Given the description of an element on the screen output the (x, y) to click on. 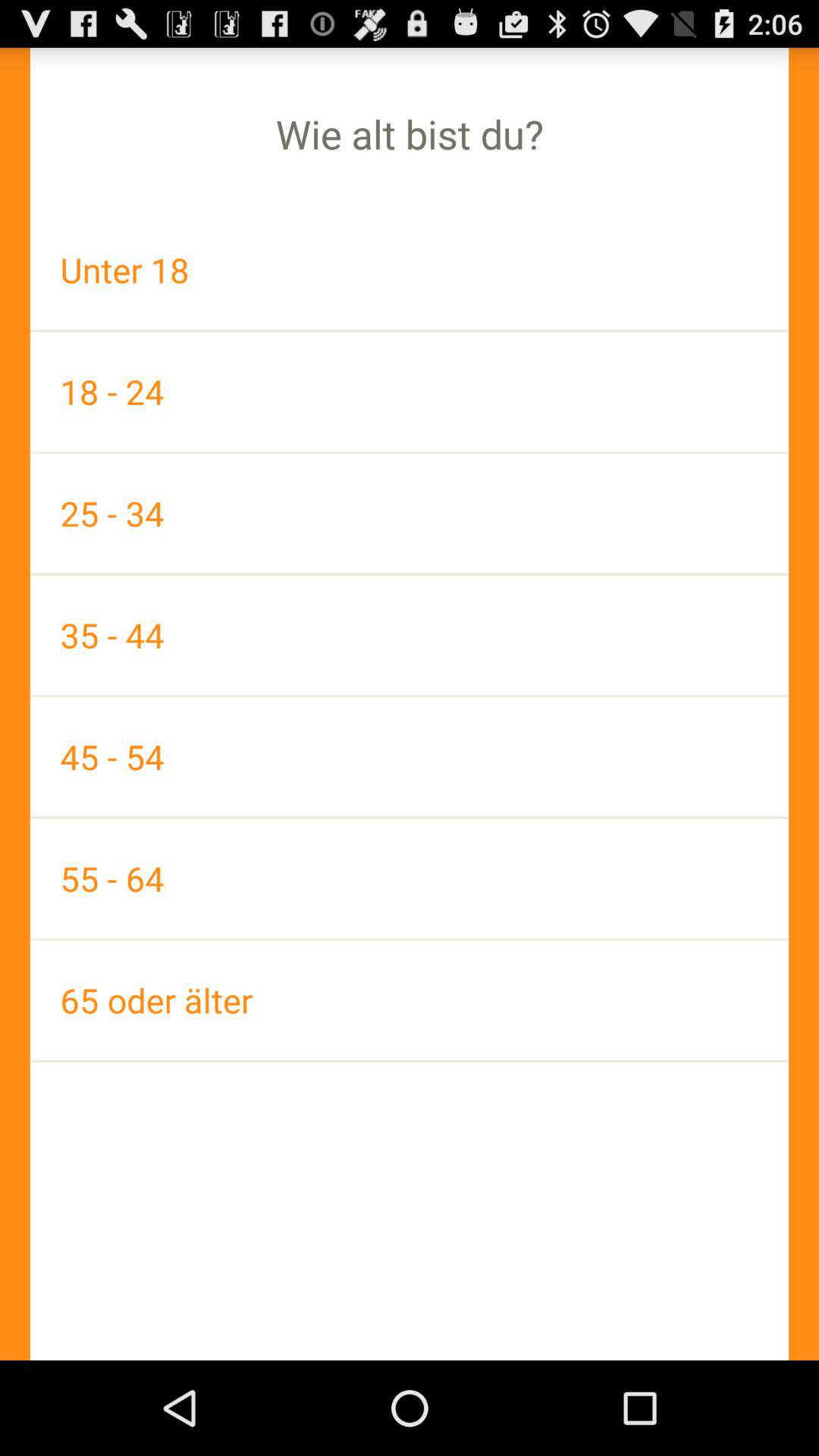
click the app below the 18 - 24 icon (409, 513)
